Given the description of an element on the screen output the (x, y) to click on. 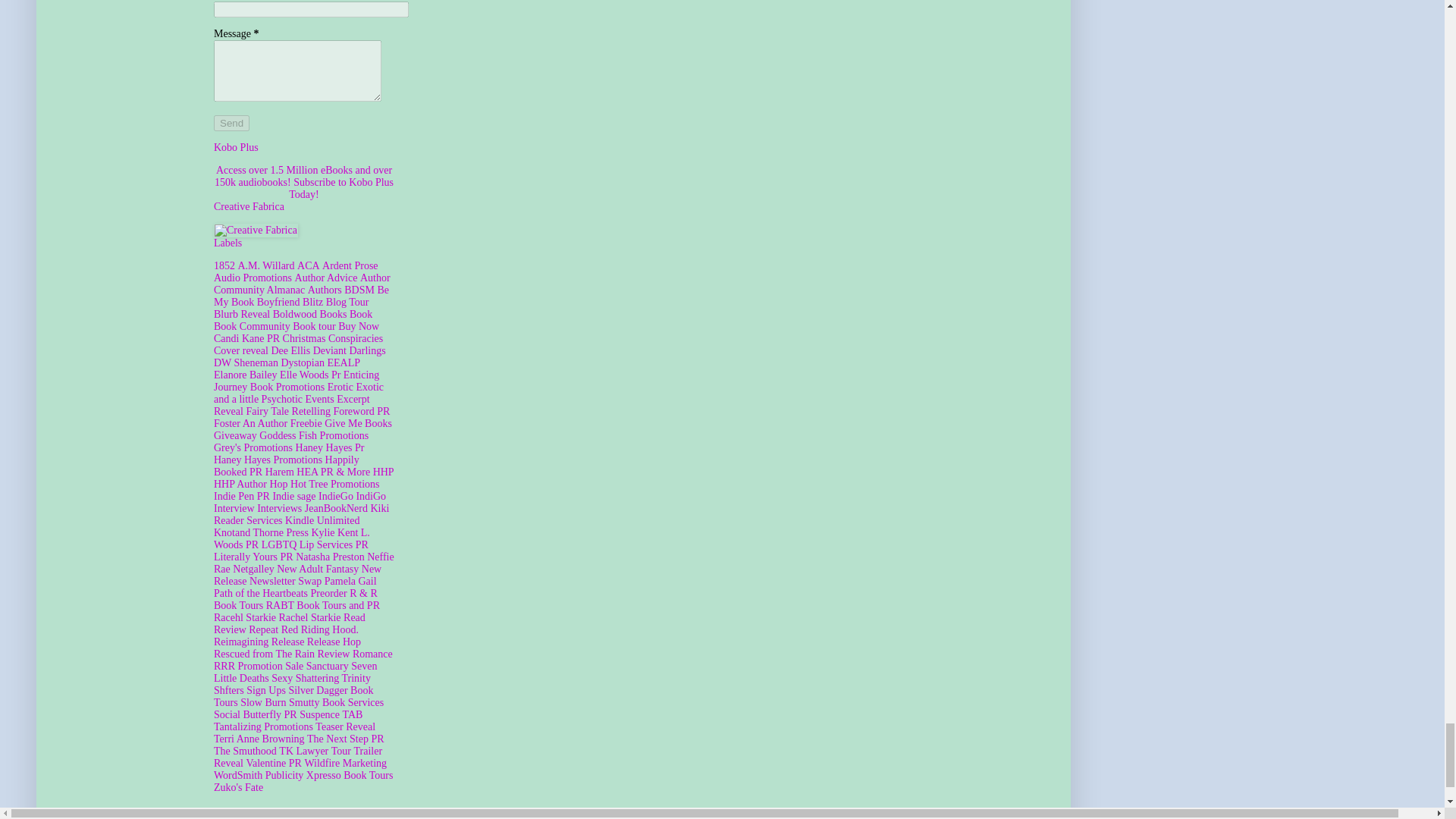
Send (231, 123)
